Given the description of an element on the screen output the (x, y) to click on. 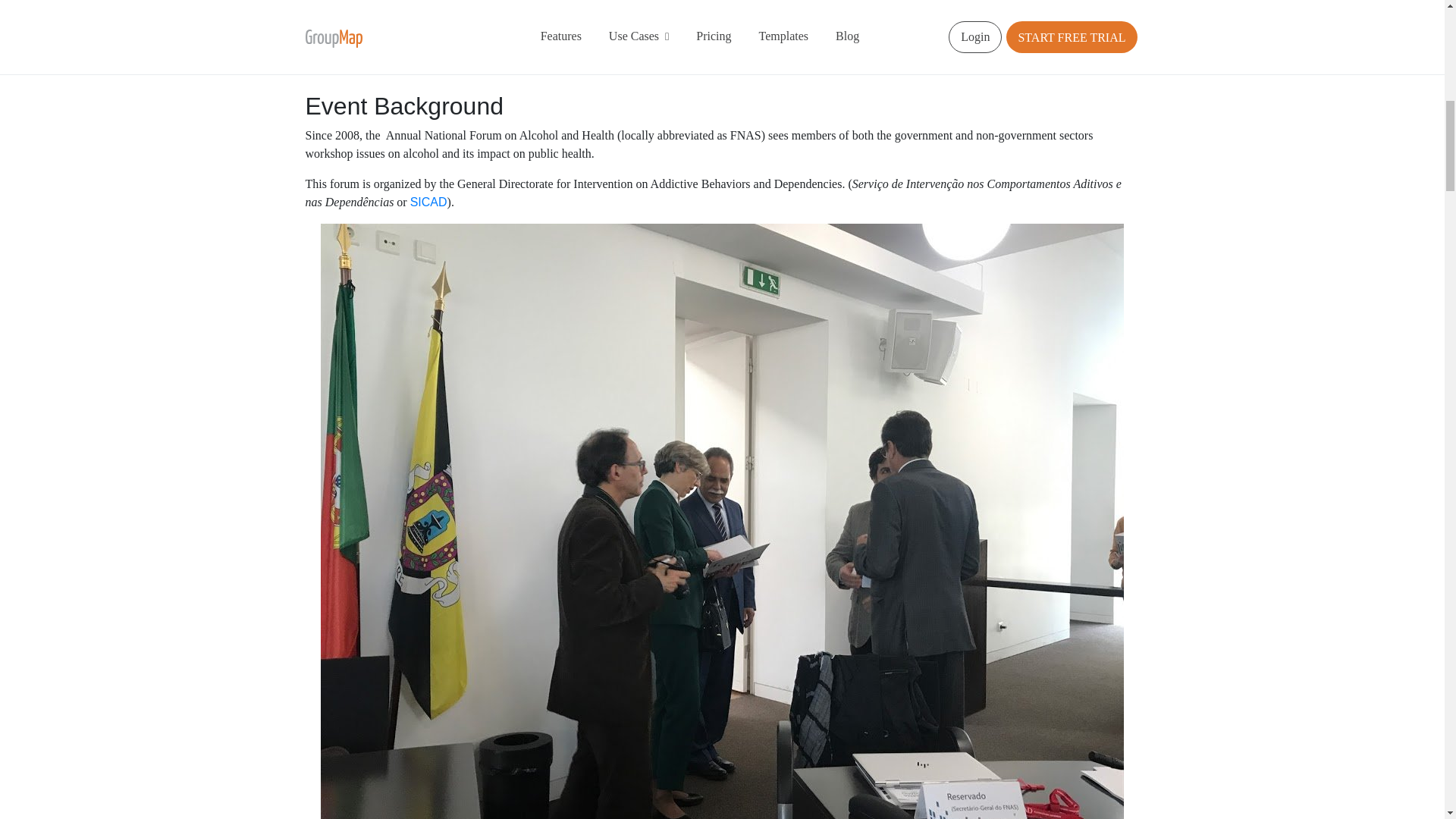
SICAD (428, 201)
